Given the description of an element on the screen output the (x, y) to click on. 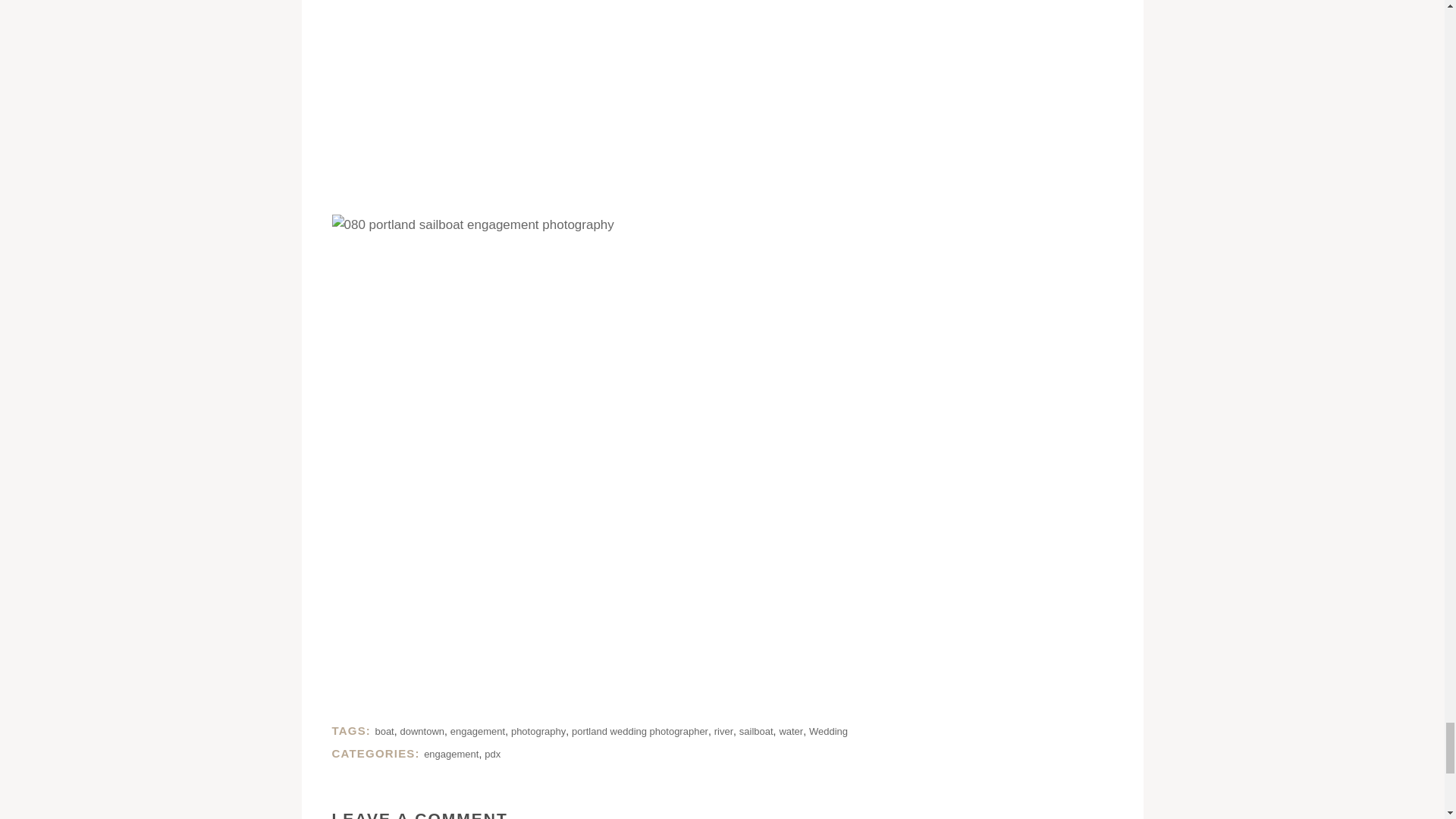
pdx (492, 754)
water (790, 731)
Wedding (828, 731)
engagement (451, 754)
photography (538, 731)
boat (383, 731)
downtown (422, 731)
sailboat (756, 731)
engagement (477, 731)
river (723, 731)
portland wedding photographer (639, 731)
